Given the description of an element on the screen output the (x, y) to click on. 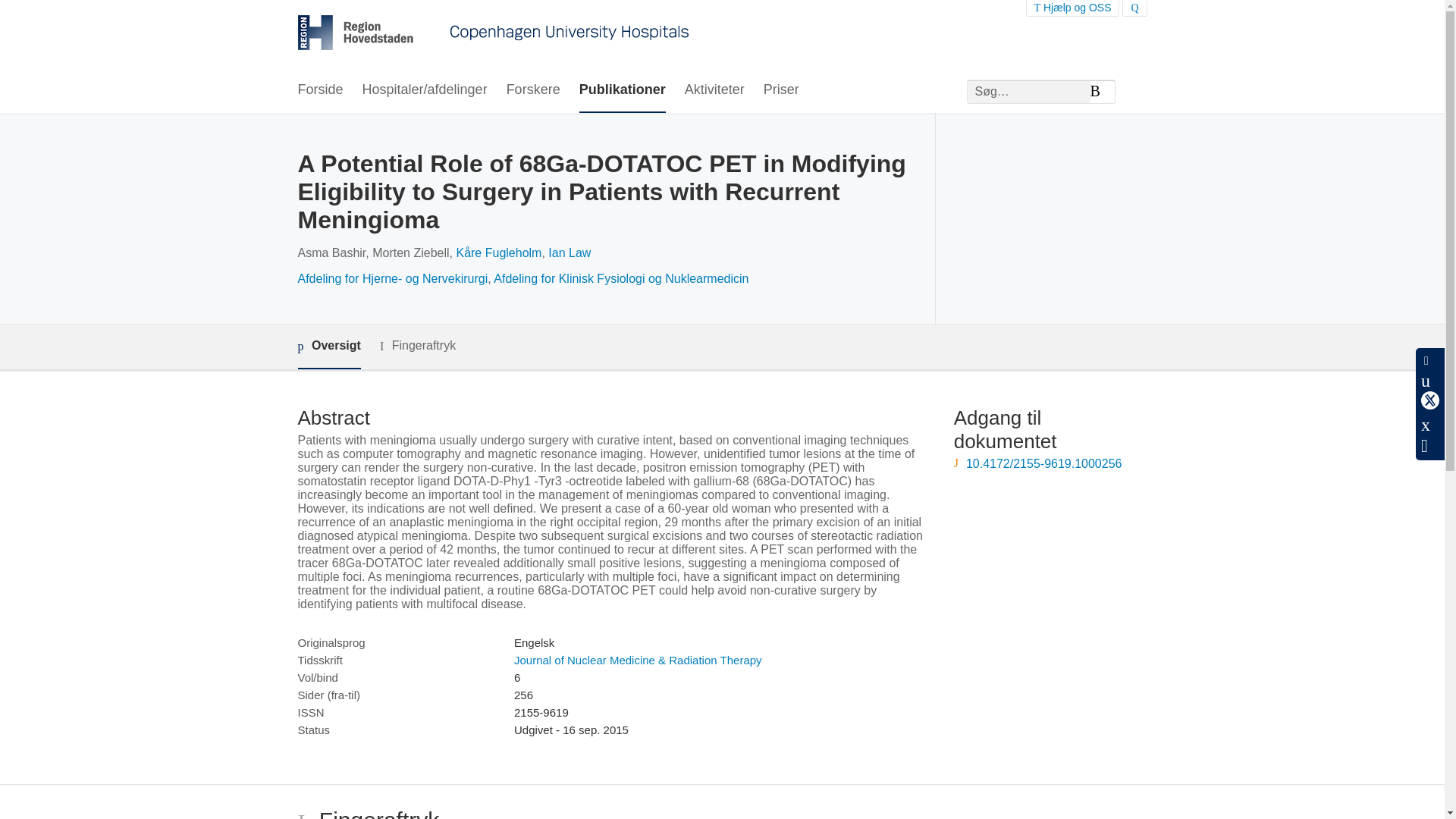
Ian Law (569, 252)
Forside (319, 90)
Forskere (533, 90)
Publikationer (622, 90)
Afdeling for Klinisk Fysiologi og Nuklearmedicin (620, 278)
Aktiviteter (714, 90)
Region Hovedstadens forskningsportal Forside (492, 34)
Fingeraftryk (417, 345)
Afdeling for Hjerne- og Nervekirurgi (392, 278)
Oversigt (328, 346)
